Given the description of an element on the screen output the (x, y) to click on. 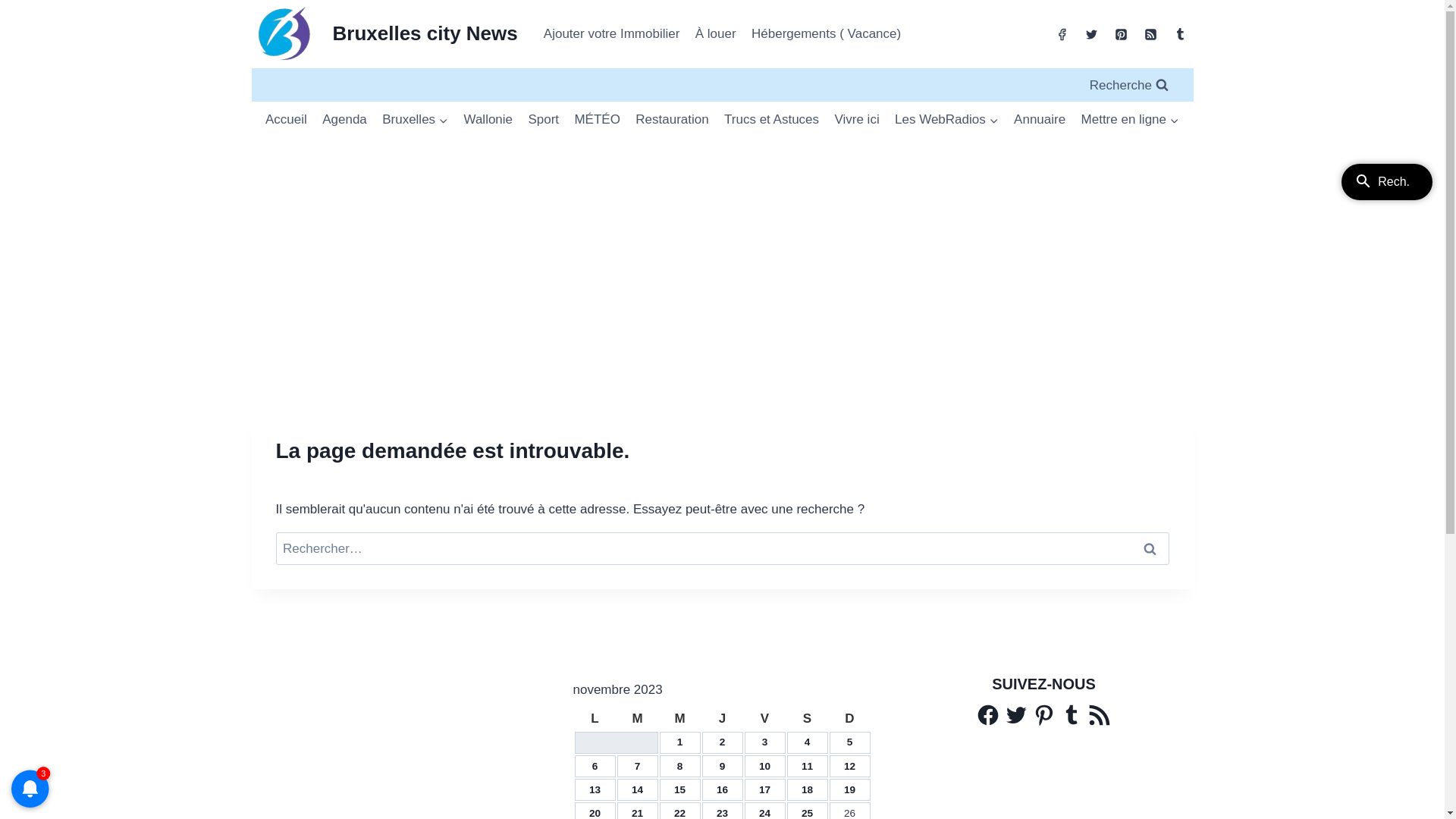
Flux RSS Element type: text (1099, 714)
3 Element type: text (765, 741)
Les WebRadios Element type: text (946, 119)
Vivre ici Element type: text (856, 119)
1 Element type: text (680, 741)
12 Element type: text (849, 765)
Advertisement Element type: hover (721, 244)
Recherche Element type: text (1128, 84)
 Webpushr Element type: text (30, 765)
Restauration Element type: text (671, 119)
Mettre en ligne Element type: text (1129, 119)
11 Element type: text (806, 765)
Bruxelles Element type: text (414, 119)
15 Element type: text (679, 789)
18 Element type: text (806, 789)
Facebook Element type: text (987, 714)
14 Element type: text (637, 789)
16 Element type: text (722, 789)
Bruxelles city News Element type: text (384, 34)
Twitter Element type: text (1016, 714)
Agenda Element type: text (344, 119)
Annuaire Element type: text (1039, 119)
Rechercher Element type: text (1150, 548)
Sport Element type: text (543, 119)
5 Element type: text (850, 741)
6 Element type: text (595, 765)
2 Element type: text (722, 741)
10 Element type: text (764, 765)
Tumblr Element type: text (1071, 714)
Ajouter votre Immobilier Element type: text (611, 33)
17 Element type: text (764, 789)
Pinterest Element type: text (1043, 714)
19 Element type: text (849, 789)
7 Element type: text (637, 765)
Trucs et Astuces Element type: text (771, 119)
Wallonie Element type: text (487, 119)
Accueil Element type: text (285, 119)
13 Element type: text (594, 789)
4 Element type: text (807, 741)
9 Element type: text (722, 765)
8 Element type: text (680, 765)
